Given the description of an element on the screen output the (x, y) to click on. 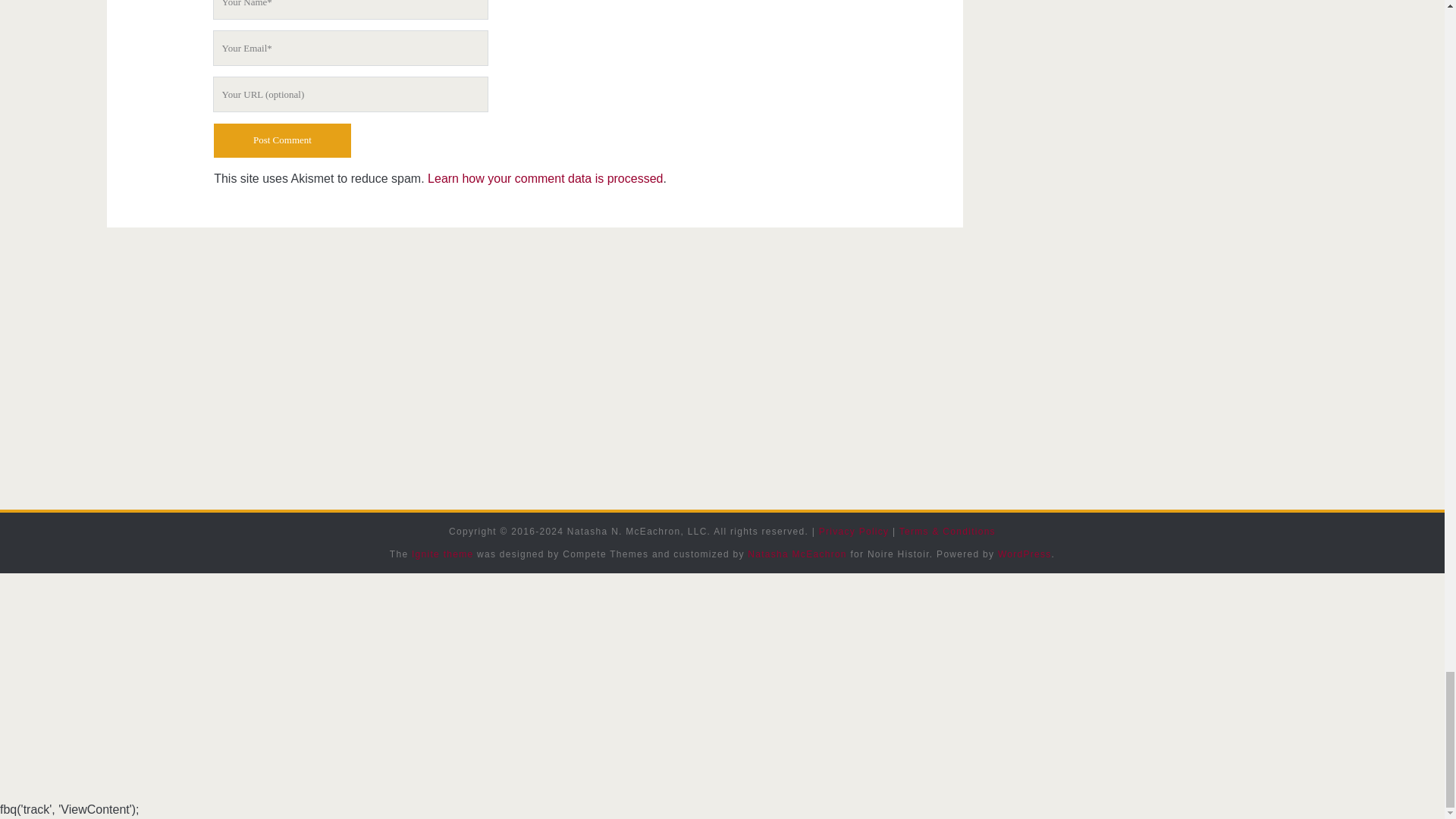
Post Comment (282, 140)
Learn how your comment data is processed (545, 178)
Post Comment (282, 140)
